Given the description of an element on the screen output the (x, y) to click on. 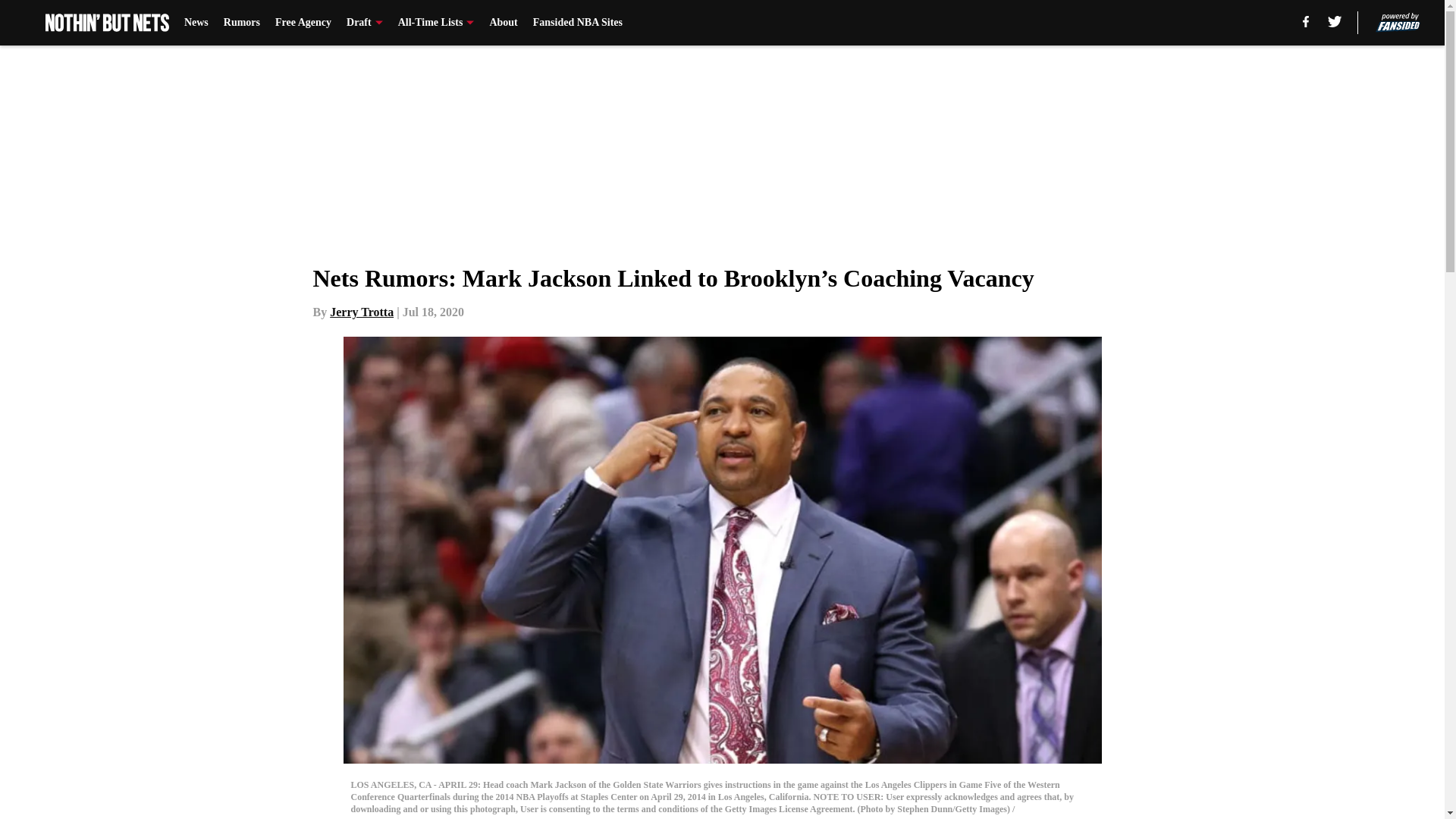
Jerry Trotta (361, 311)
Rumors (242, 22)
Fansided NBA Sites (577, 22)
Free Agency (303, 22)
About (502, 22)
News (196, 22)
